Given the description of an element on the screen output the (x, y) to click on. 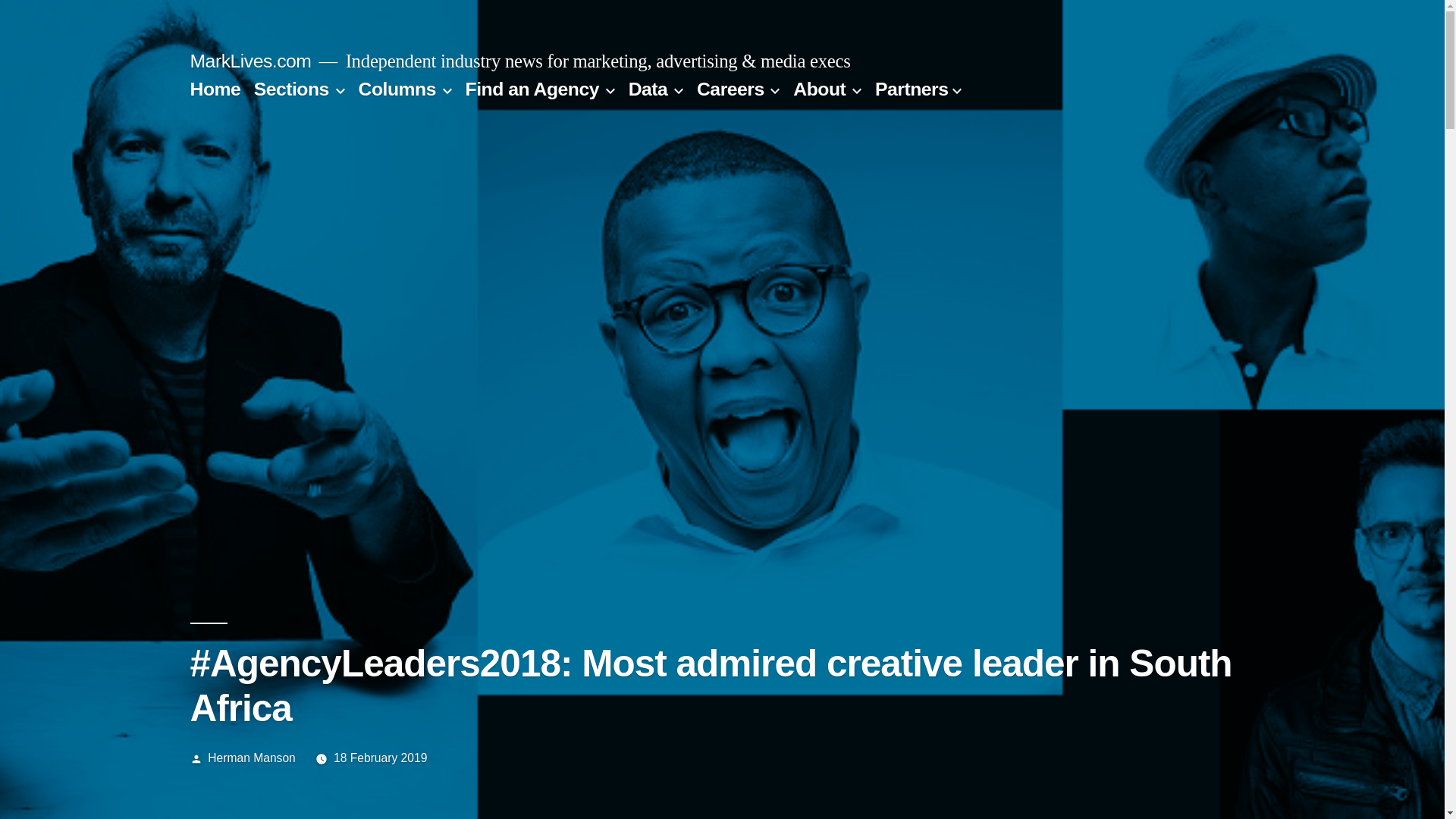
Columns (396, 88)
Home (214, 88)
MarkLives.com (250, 60)
Sections (291, 88)
